Given the description of an element on the screen output the (x, y) to click on. 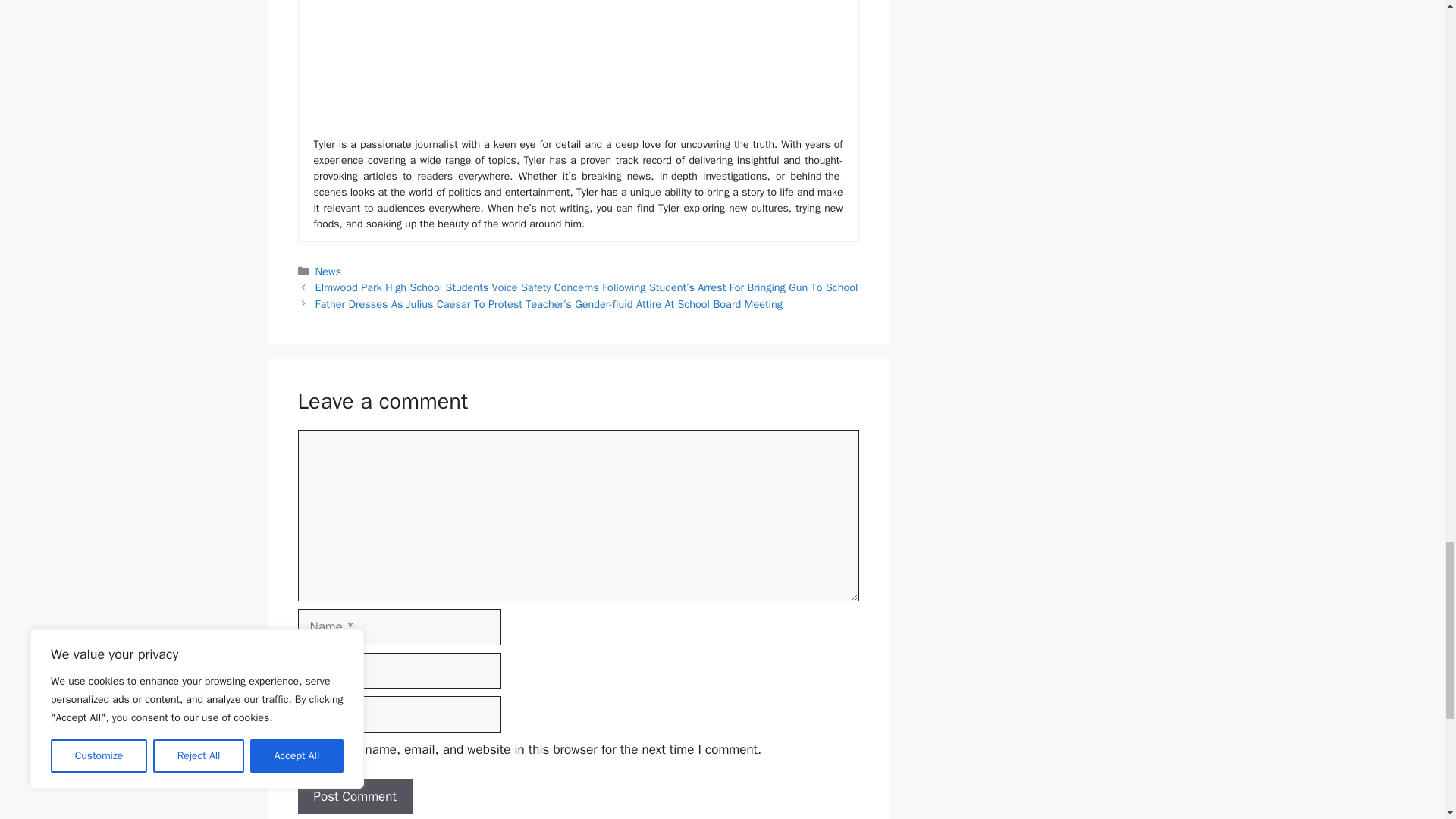
yes (302, 749)
News (327, 271)
Post Comment (354, 796)
Post Comment (354, 796)
